Given the description of an element on the screen output the (x, y) to click on. 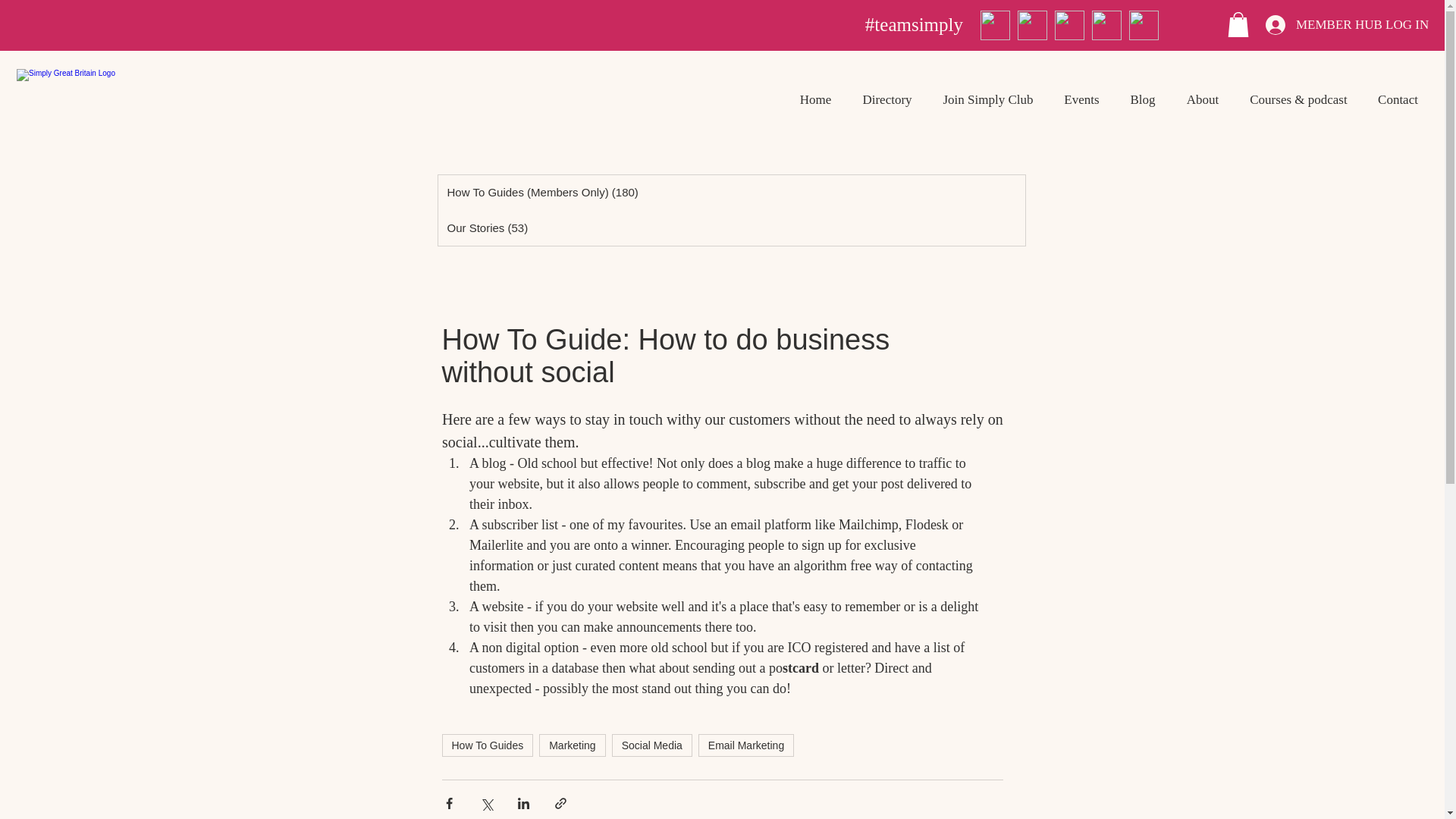
Contact (1397, 99)
About (1202, 99)
Events (1081, 99)
Blog (1142, 99)
How To Guides (486, 744)
Email Marketing (745, 744)
MEMBER HUB LOG IN (1343, 24)
Marketing (571, 744)
Social Media (652, 744)
Join Simply Club (987, 99)
Directory (887, 99)
Home (815, 99)
